Given the description of an element on the screen output the (x, y) to click on. 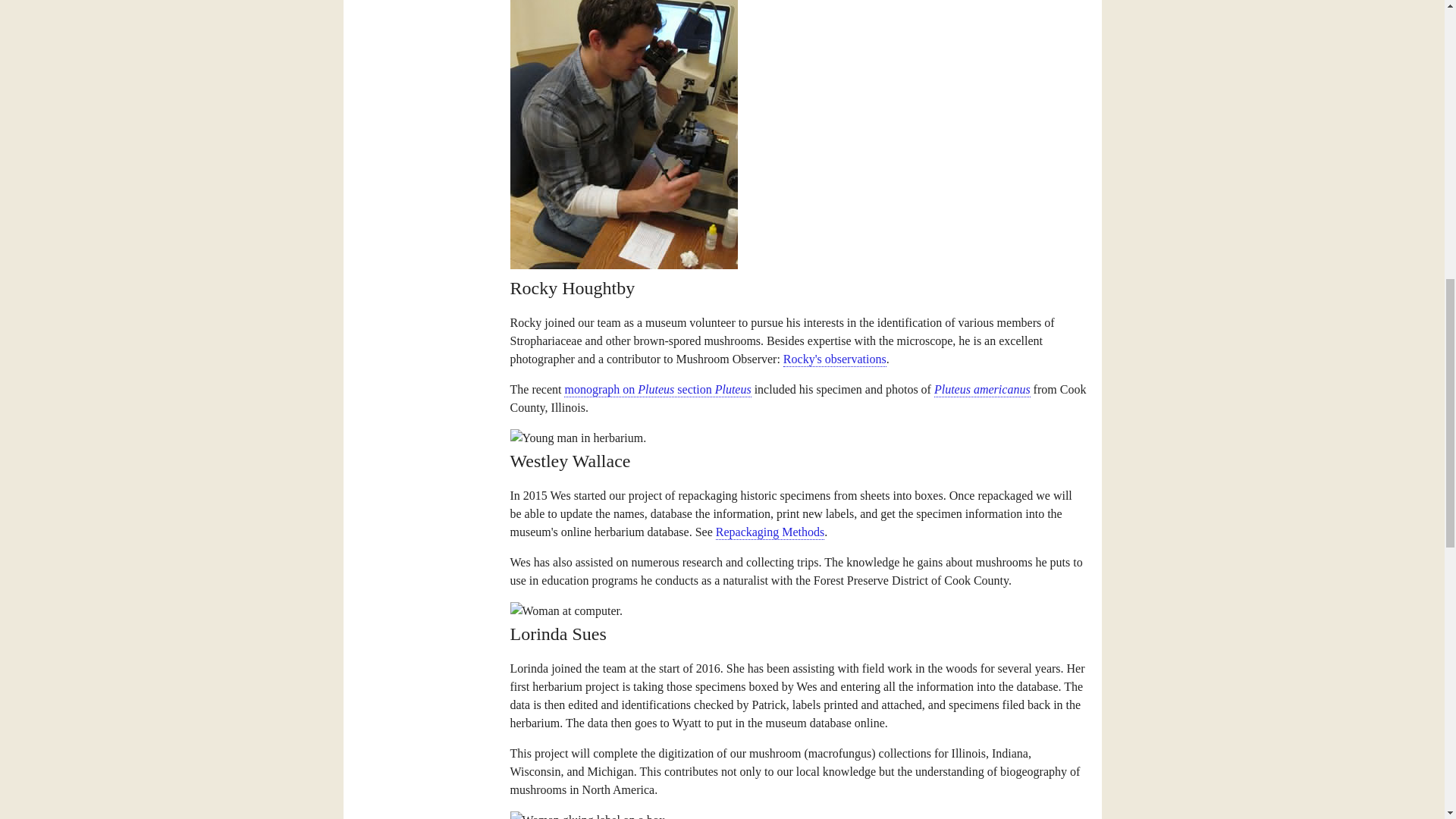
Lorinda Sues (565, 610)
Rocky's observations (834, 359)
Maria Sheehan (587, 815)
Westley Wallace (577, 438)
Repackaging Methods (770, 532)
monograph on Pluteus section Pluteus (657, 390)
Pluteus americanus (982, 390)
